Given the description of an element on the screen output the (x, y) to click on. 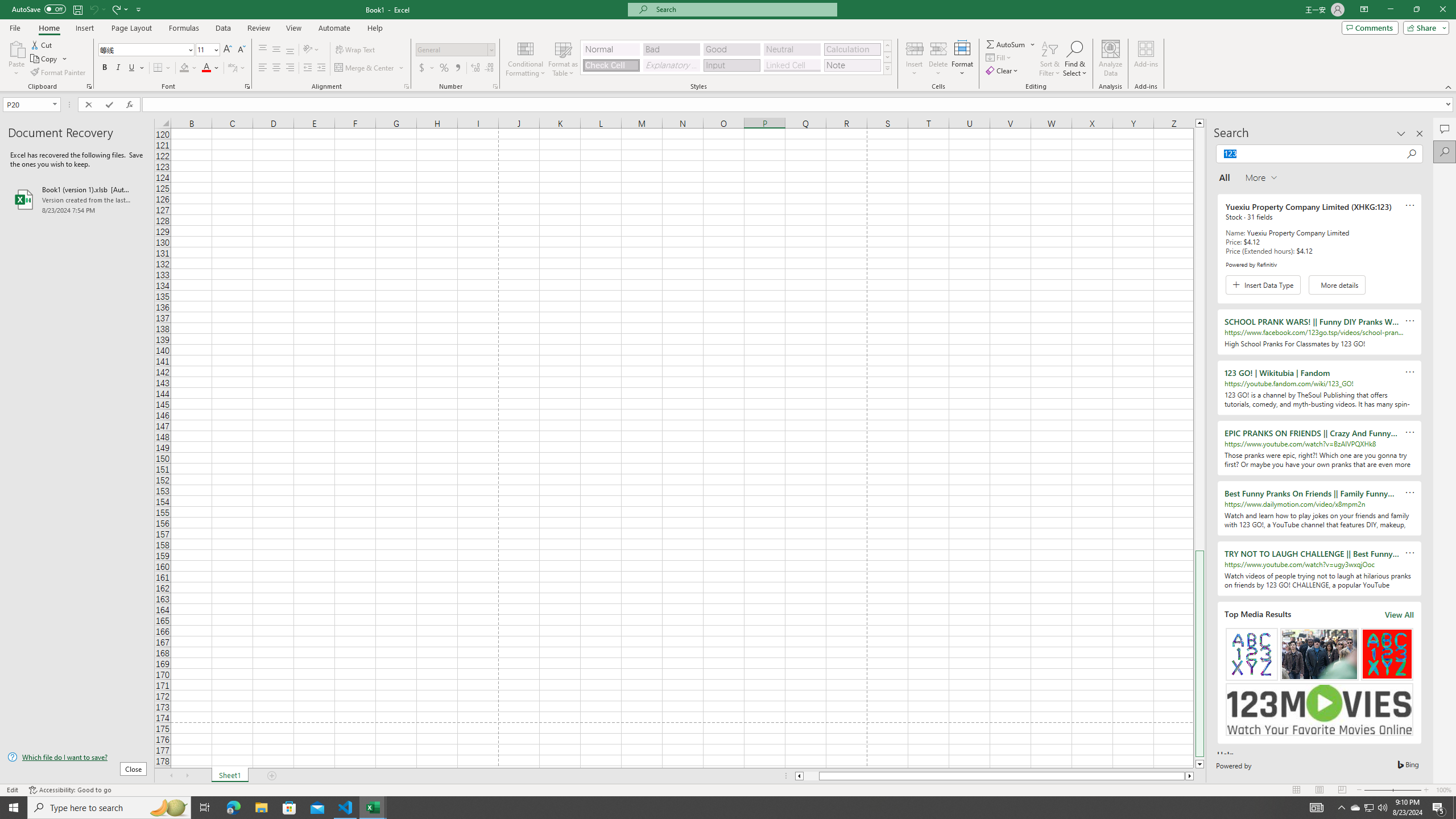
Conditional Formatting (525, 58)
Cut (42, 44)
Underline (136, 67)
Fill Color (188, 67)
Input (731, 65)
Align Left (262, 67)
